Given the description of an element on the screen output the (x, y) to click on. 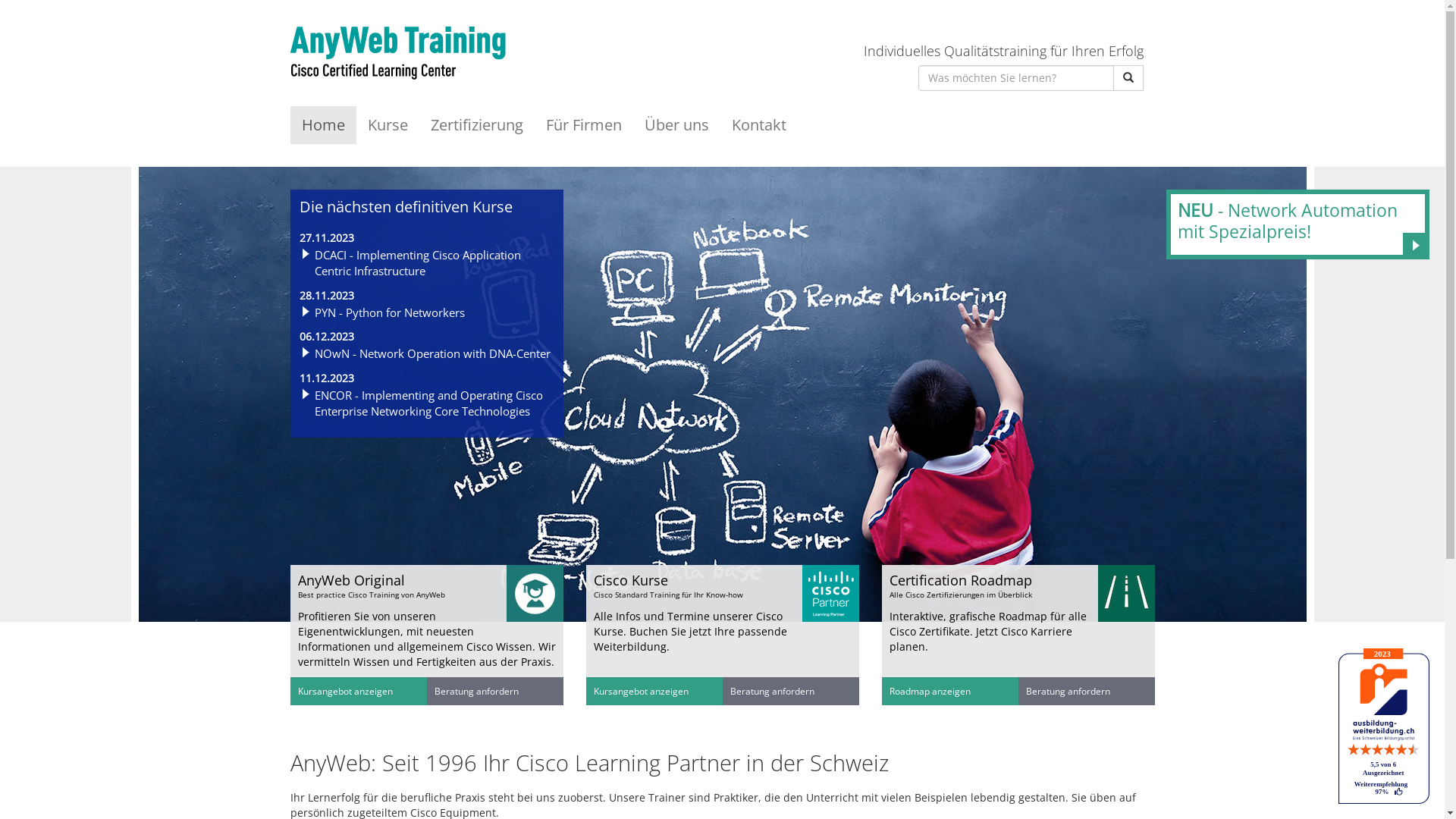
Roadmap anzeigen Element type: text (928, 690)
NEU - Network Automation mit Spezialpreis! Element type: text (1298, 224)
Home Element type: text (322, 125)
Kursangebot anzeigen Element type: text (640, 690)
Kursangebot anzeigen Element type: text (344, 690)
Beratung anfordern Element type: text (771, 690)
NOwN - Network Operation with DNA-Center Element type: text (431, 352)
Kurse Element type: text (387, 125)
Zertifizierung Element type: text (475, 125)
PYN - Python for Networkers Element type: text (388, 312)
Beratung anfordern Element type: text (1067, 690)
Kontakt Element type: text (758, 125)
Beratung anfordern Element type: text (475, 690)
